Given the description of an element on the screen output the (x, y) to click on. 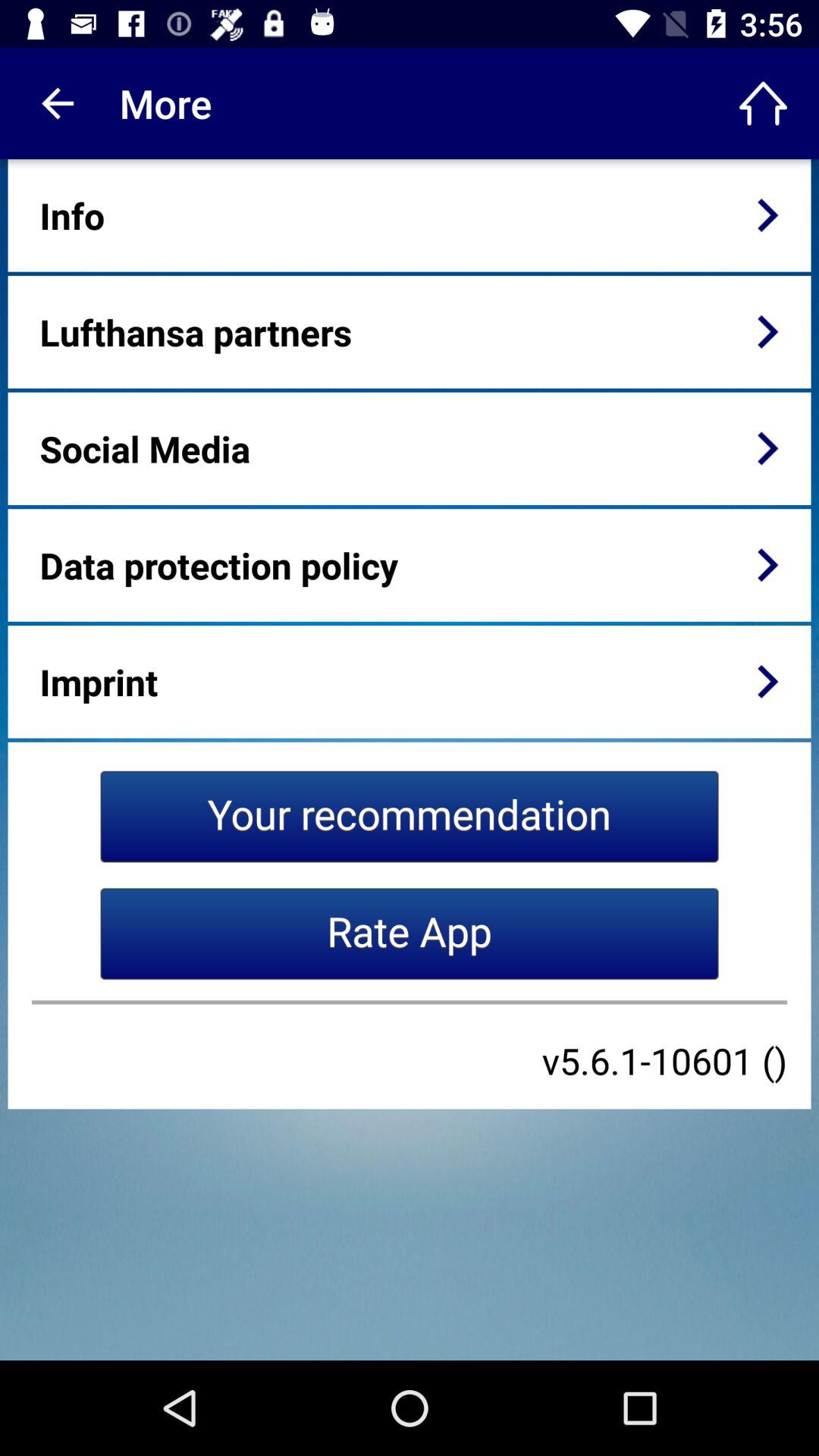
turn on icon next to the info item (768, 214)
